Given the description of an element on the screen output the (x, y) to click on. 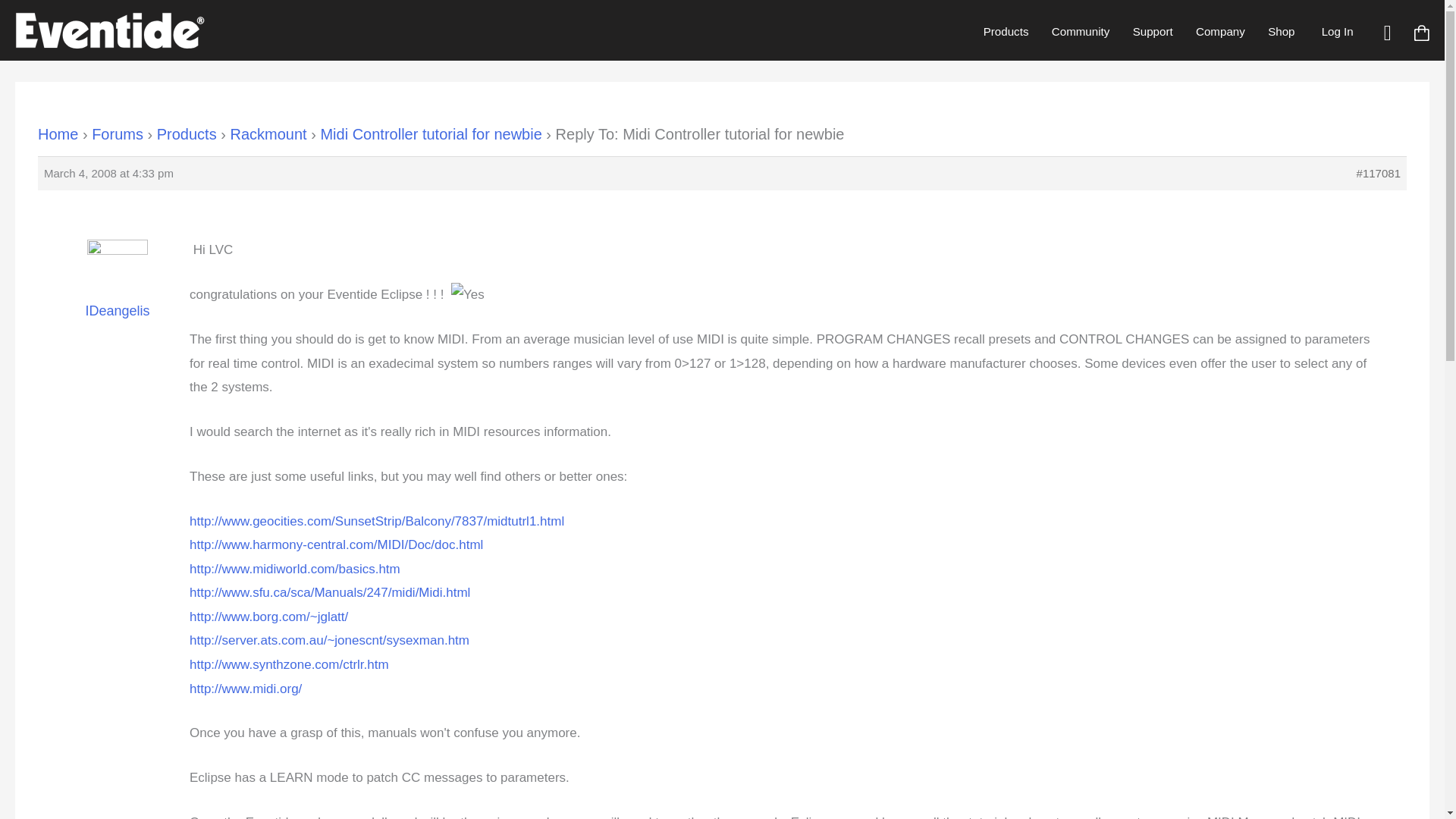
Log In (1337, 31)
Company (1220, 31)
Products (1006, 31)
Community (1081, 31)
Shop (1281, 31)
Support (1152, 31)
View IDeangelis's profile (117, 289)
